Given the description of an element on the screen output the (x, y) to click on. 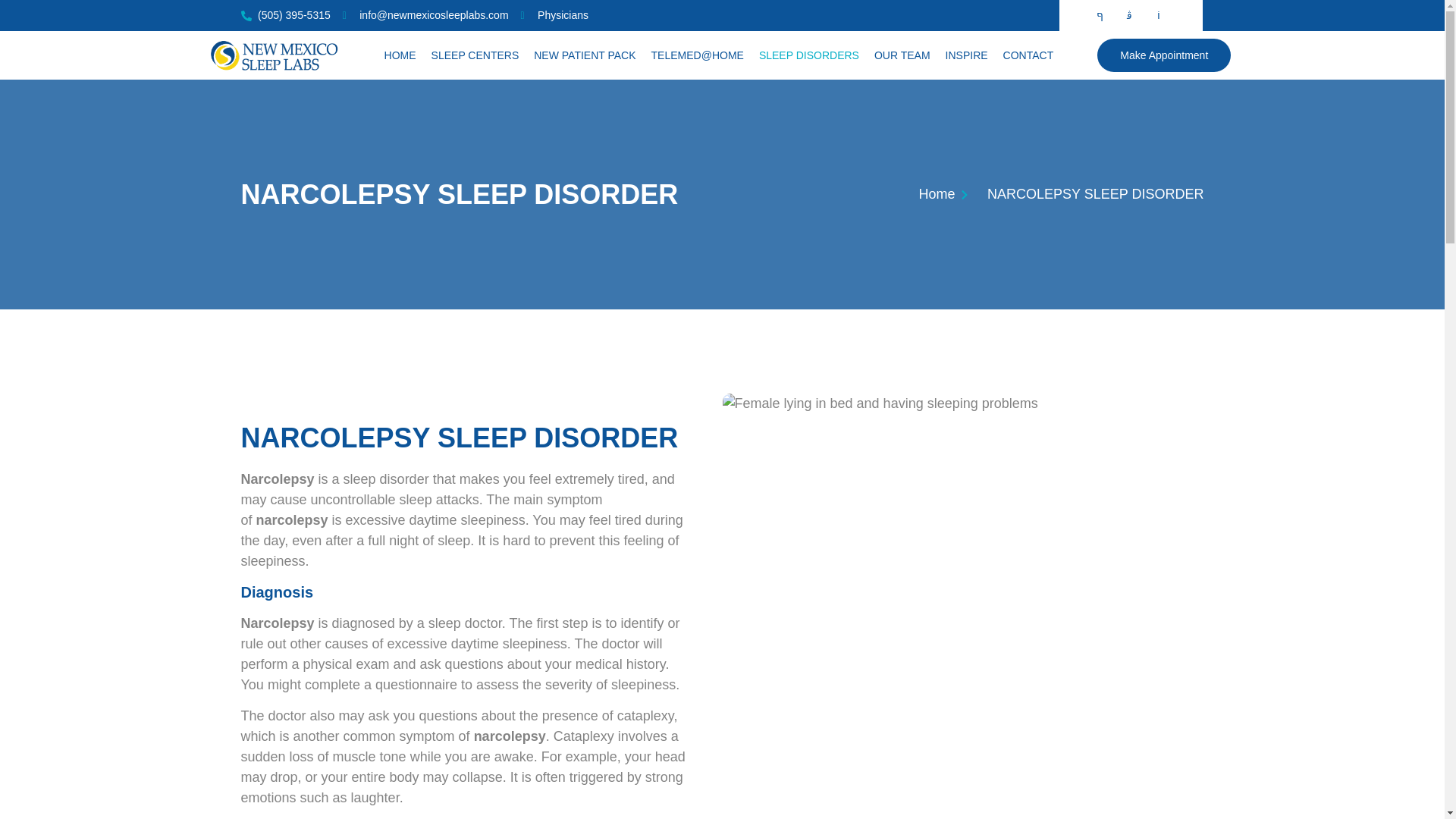
Physicians (554, 15)
OUR TEAM (901, 55)
SLEEP CENTERS (475, 55)
NEW PATIENT PACK (584, 55)
CONTACT (1028, 55)
HOME (400, 55)
Female lying in bed and having sleeping problems (936, 403)
SLEEP DISORDERS (808, 55)
INSPIRE (966, 55)
